Given the description of an element on the screen output the (x, y) to click on. 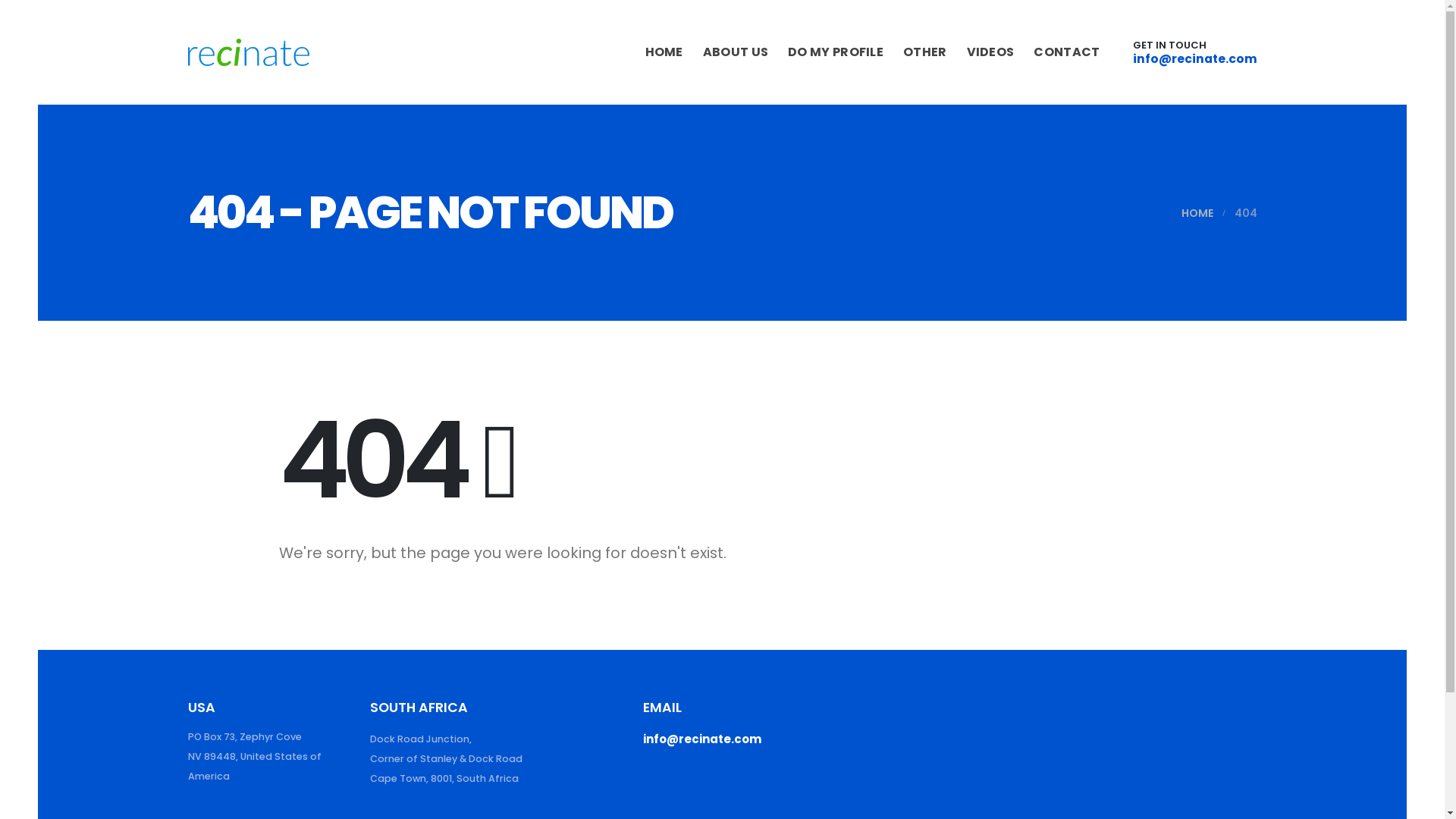
Recinate - Defining how people communicate Element type: hover (248, 51)
info@recinate.com Element type: text (1194, 57)
HOME Element type: text (1197, 212)
VIDEOS Element type: text (990, 52)
DO MY PROFILE Element type: text (835, 52)
CONTACT Element type: text (1066, 52)
OTHER Element type: text (925, 52)
ABOUT US Element type: text (735, 52)
HOME Element type: text (664, 52)
info@recinate.com Element type: text (702, 738)
